Given the description of an element on the screen output the (x, y) to click on. 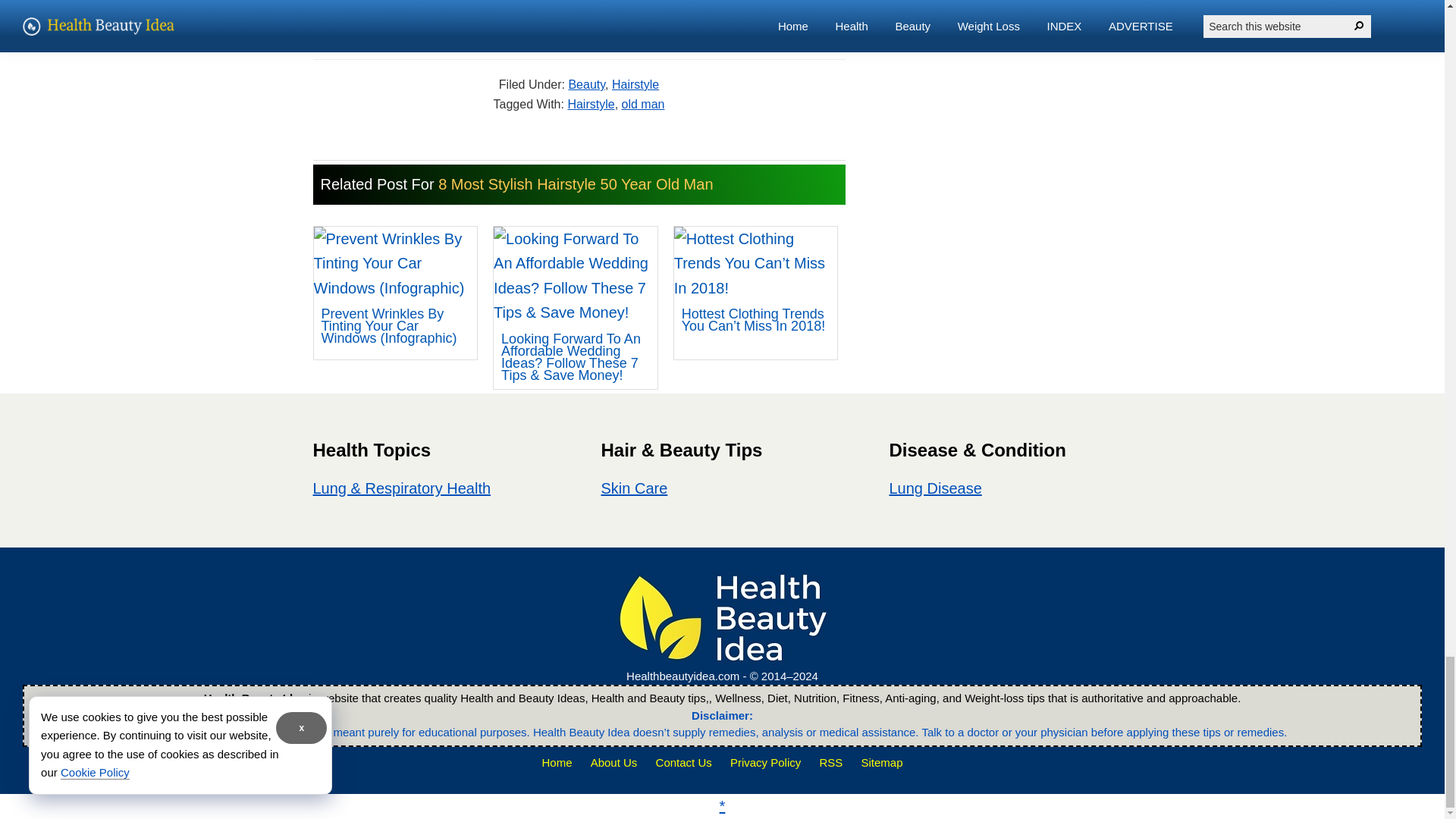
Beauty (586, 83)
Hairstyle (590, 103)
More (607, 15)
Facebook (355, 15)
old man (643, 103)
Hairstyle (635, 83)
Copy Link (529, 15)
